Given the description of an element on the screen output the (x, y) to click on. 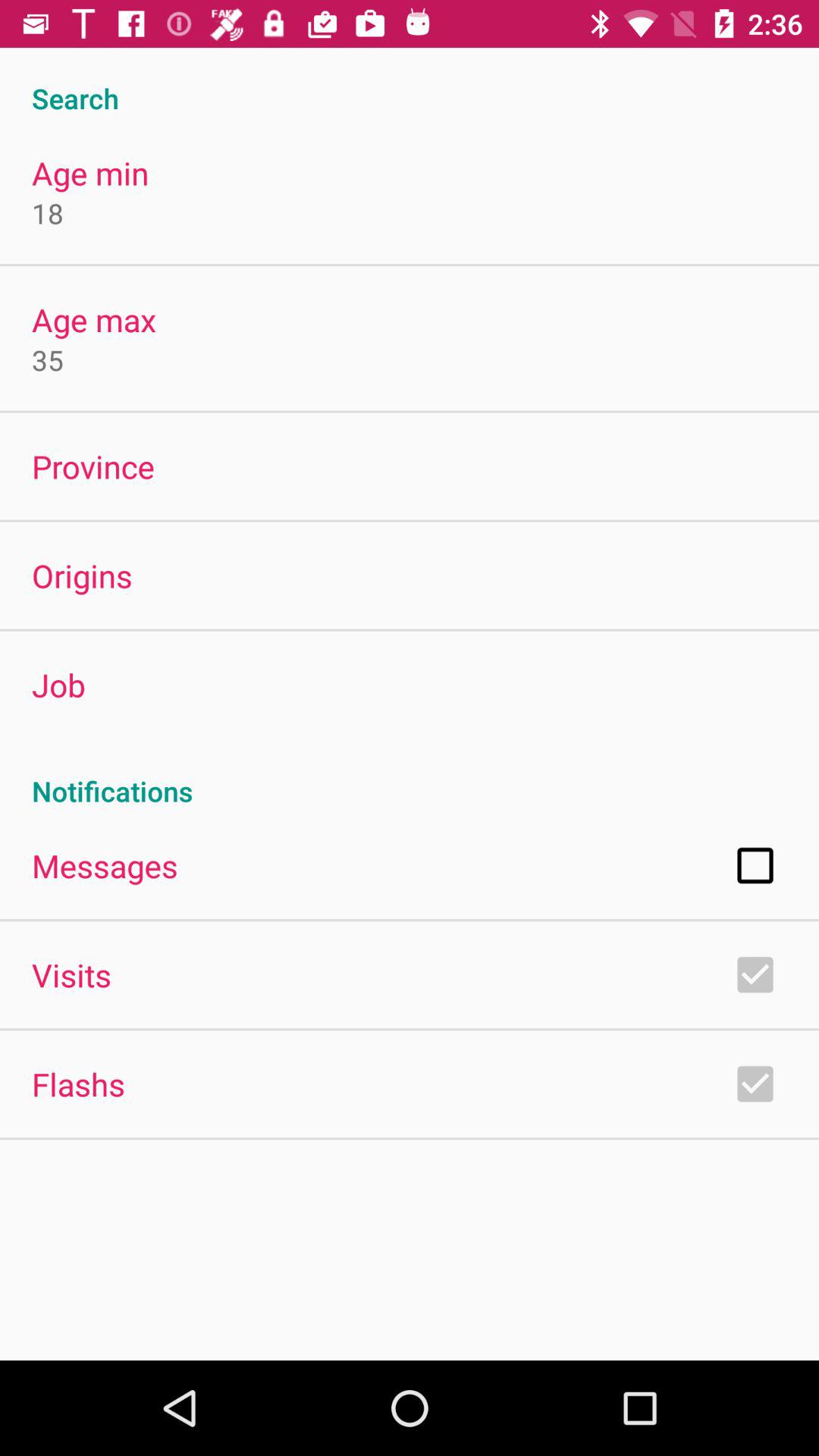
launch icon above age min icon (409, 82)
